Given the description of an element on the screen output the (x, y) to click on. 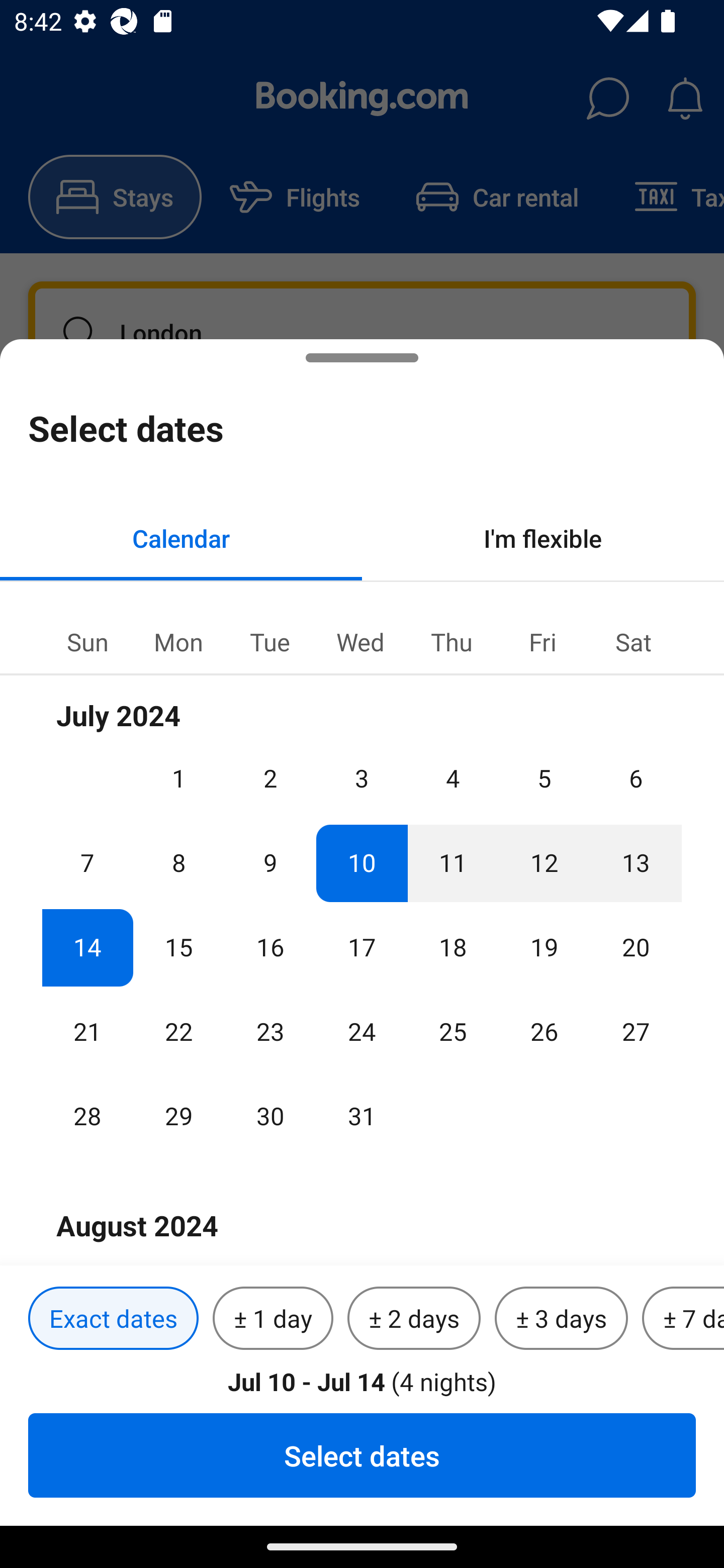
I'm flexible (543, 537)
Exact dates (113, 1318)
± 1 day (272, 1318)
± 2 days (413, 1318)
± 3 days (560, 1318)
± 7 days (683, 1318)
Select dates (361, 1454)
